Given the description of an element on the screen output the (x, y) to click on. 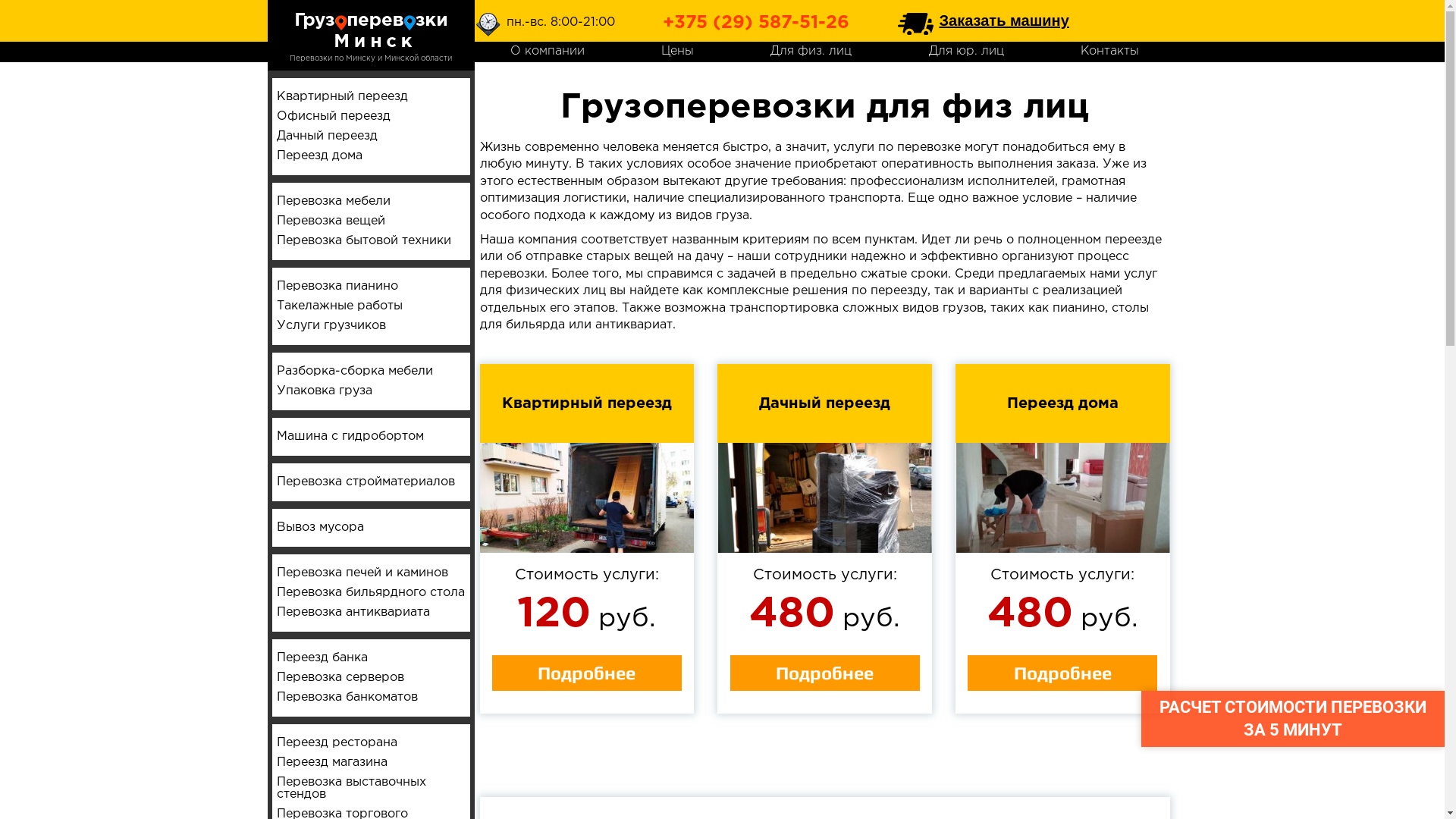
+375 (29) 587-51-26 Element type: text (755, 22)
